Given the description of an element on the screen output the (x, y) to click on. 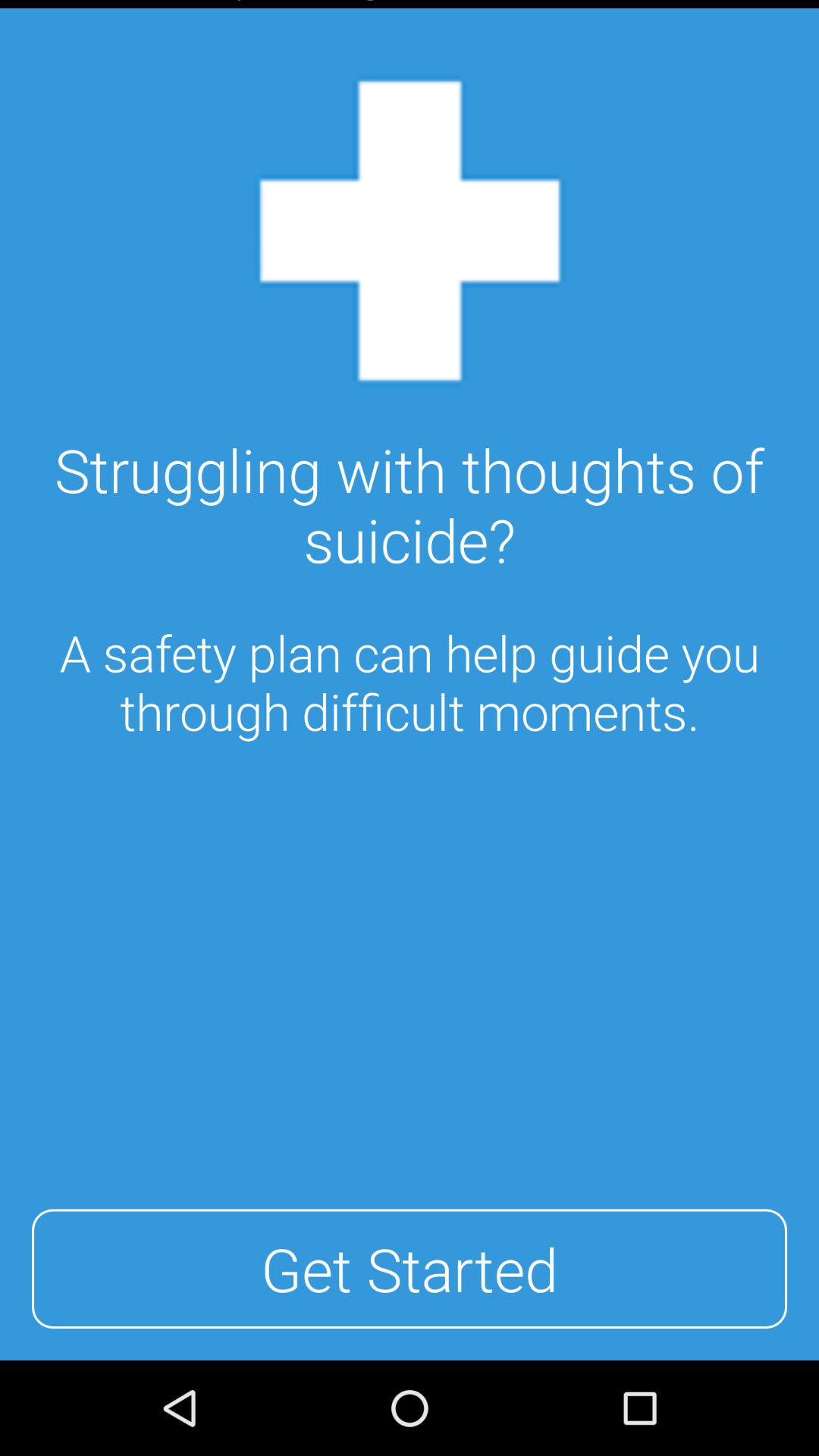
open item below the a safety plan icon (409, 1268)
